Given the description of an element on the screen output the (x, y) to click on. 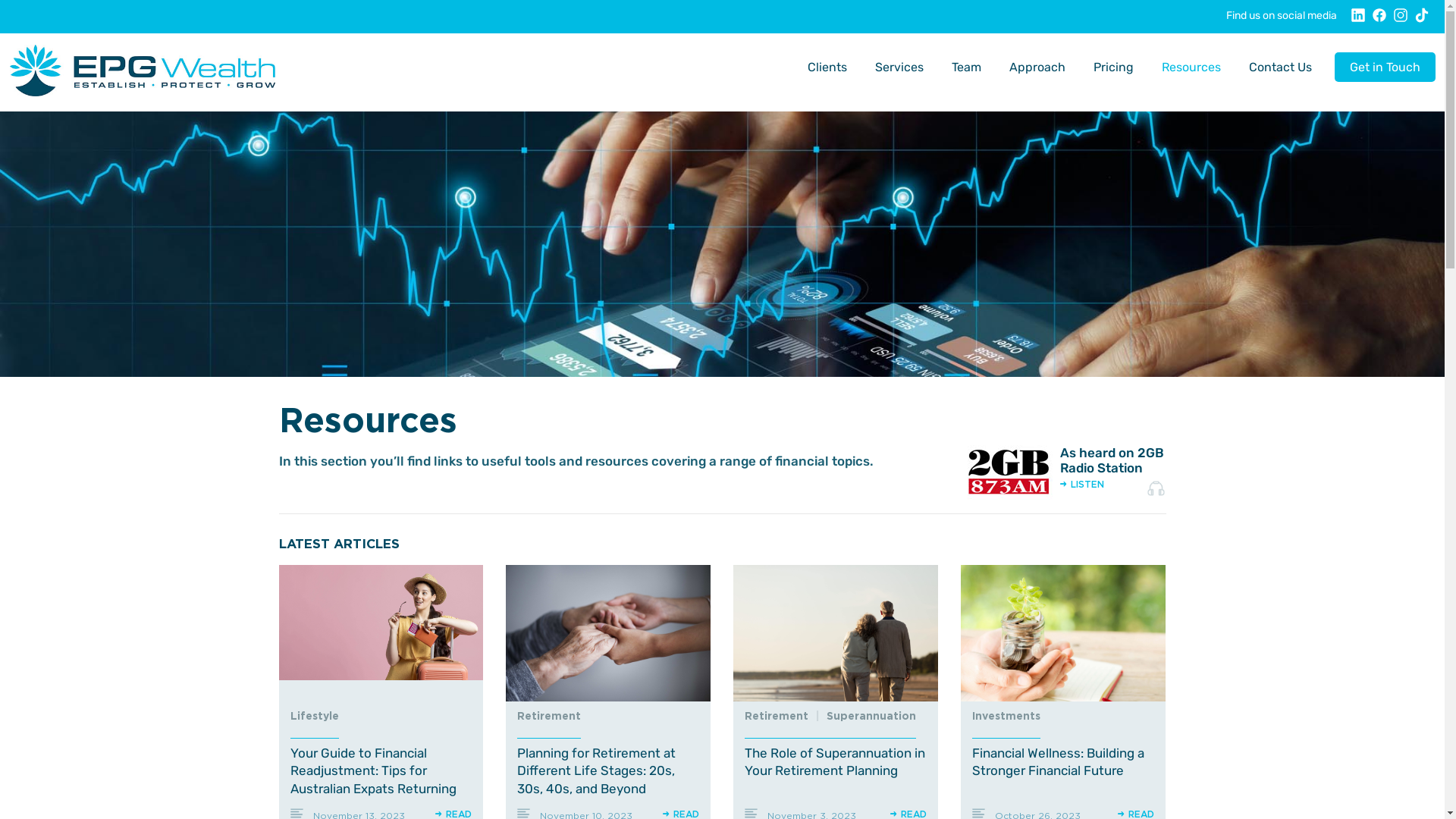
EPG Wealth Element type: hover (141, 70)
2GB-873AM Element type: hover (1006, 471)
Pricing Element type: text (1113, 66)
Tik Tok Element type: hover (1421, 18)
Get in Touch Element type: text (1384, 66)
Services Element type: text (899, 66)
The Role of Superannuation in Your Retirement Planning Element type: hover (835, 632)
LinkedIn Element type: hover (1357, 18)
Facebook Element type: hover (1378, 18)
Contact Us Element type: text (1279, 66)
Resources Element type: text (1190, 66)
Financial Wellness: Building a Stronger Financial Future Element type: hover (1062, 632)
Approach Element type: text (1036, 66)
Clients Element type: text (826, 66)
Team Element type: text (965, 66)
Instagram Element type: hover (1400, 18)
